Given the description of an element on the screen output the (x, y) to click on. 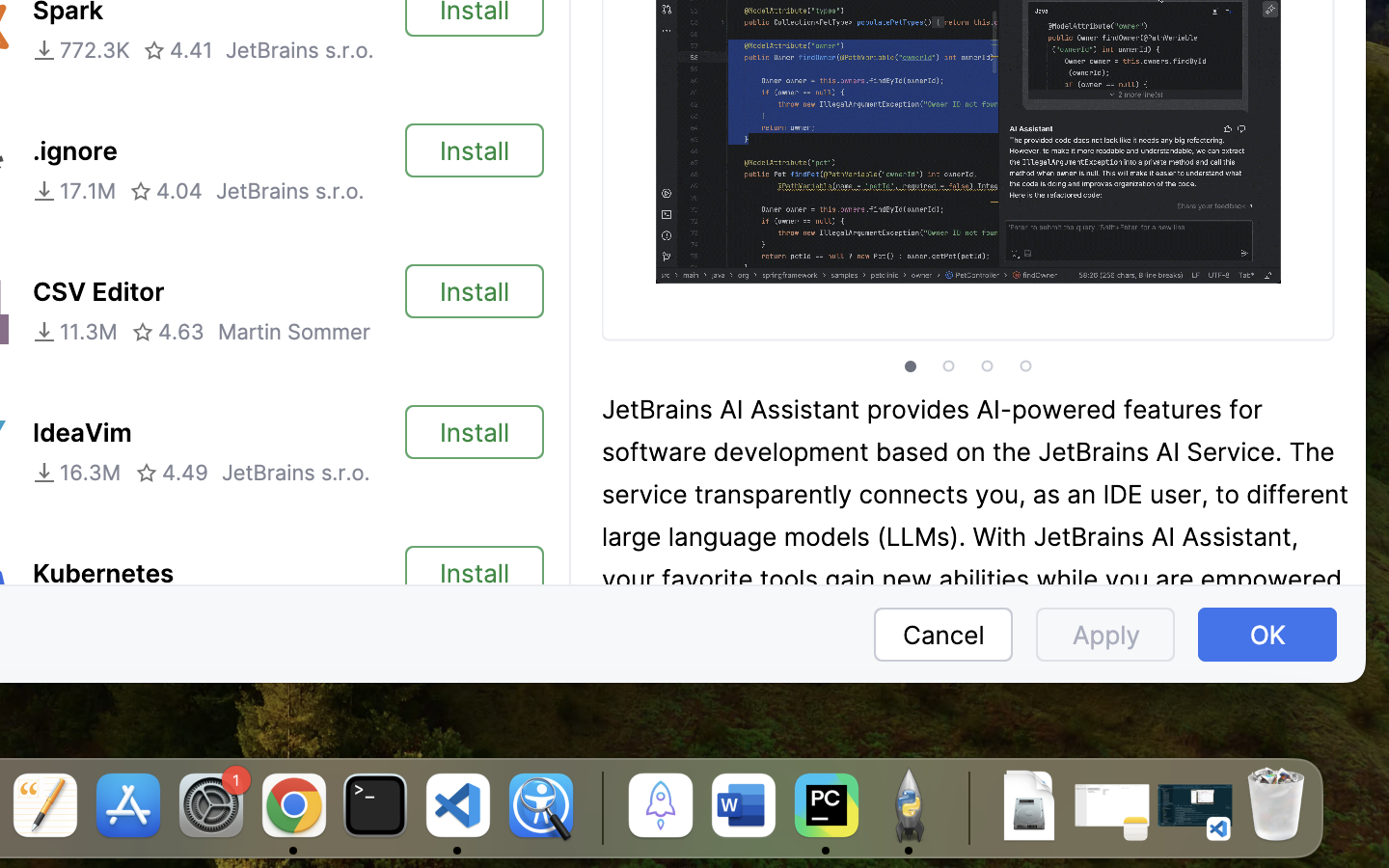
17.1M Element type: AXStaticText (73, 190)
11.3M Element type: AXStaticText (74, 331)
3.81 Element type: AXStaticText (157, 612)
772.3K Element type: AXStaticText (80, 49)
0.4285714328289032 Element type: AXDockItem (598, 807)
